Given the description of an element on the screen output the (x, y) to click on. 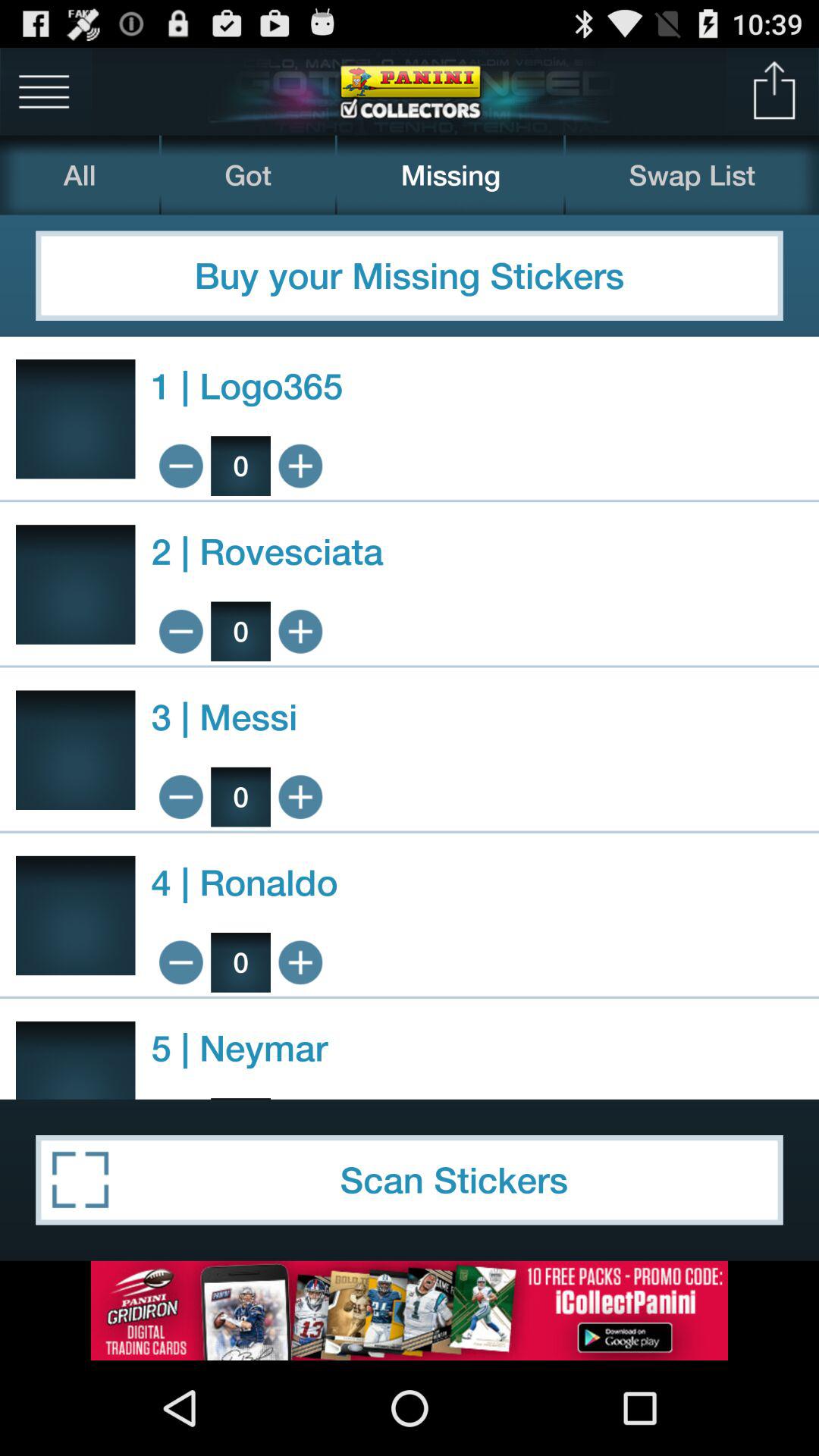
button add (300, 962)
